Given the description of an element on the screen output the (x, y) to click on. 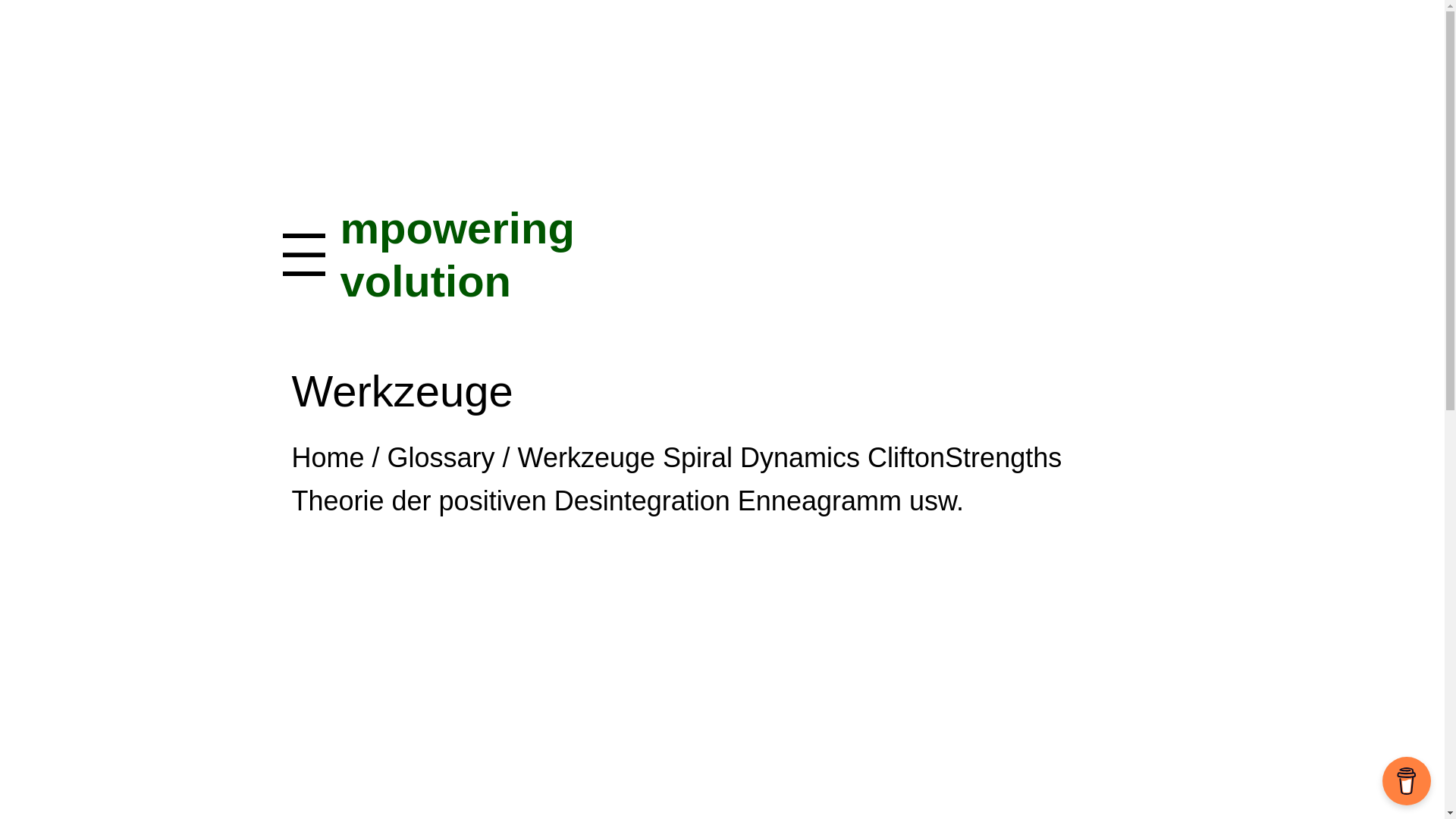
mpowering
volution Element type: text (456, 254)
